Given the description of an element on the screen output the (x, y) to click on. 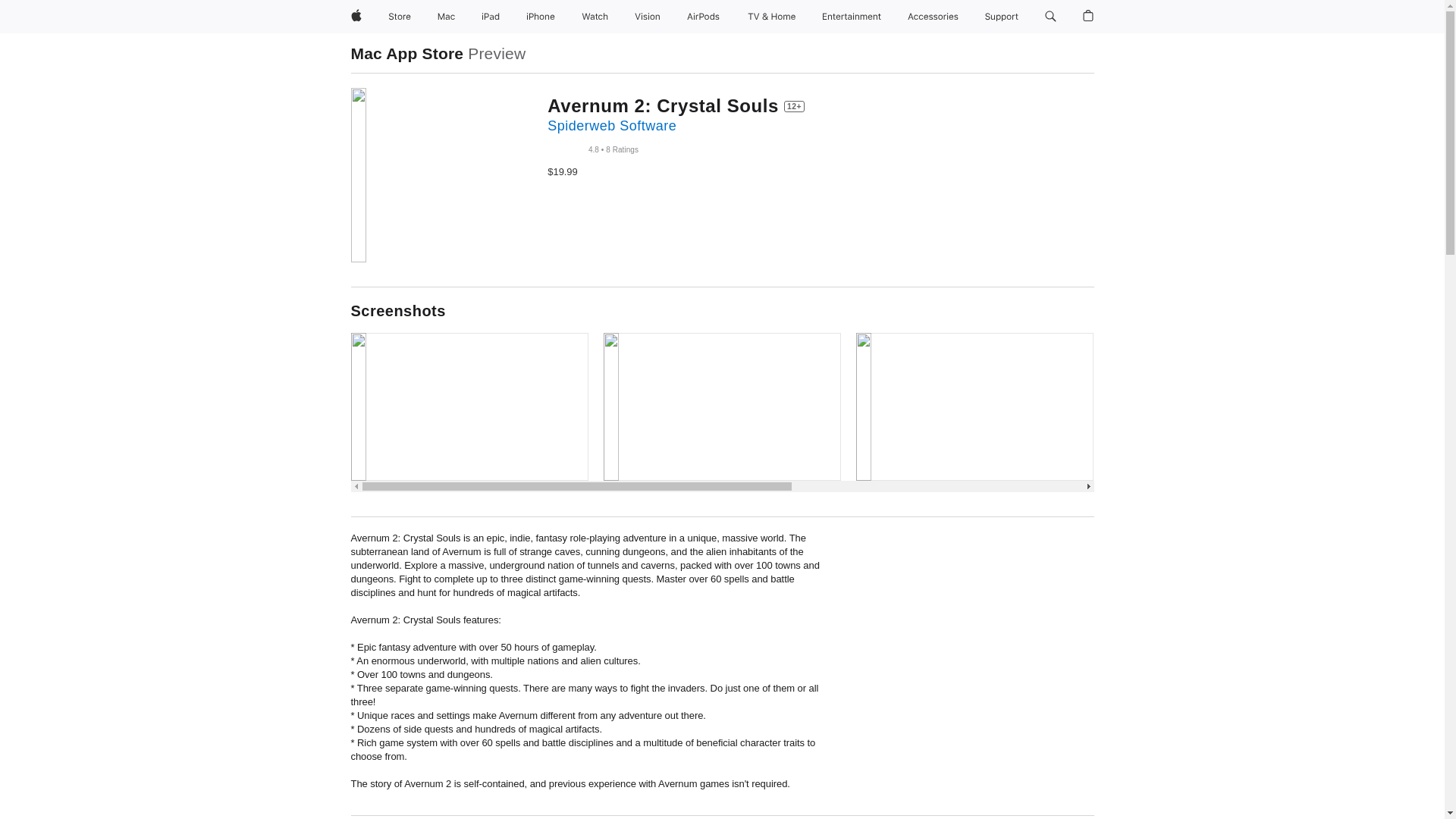
Support (1001, 16)
AirPods (703, 16)
Entertainment (851, 16)
Watch (594, 16)
iPad (490, 16)
Mac App Store (406, 53)
Vision (647, 16)
iPhone (539, 16)
Store (398, 16)
Spiderweb Software (612, 125)
Accessories (932, 16)
